Given the description of an element on the screen output the (x, y) to click on. 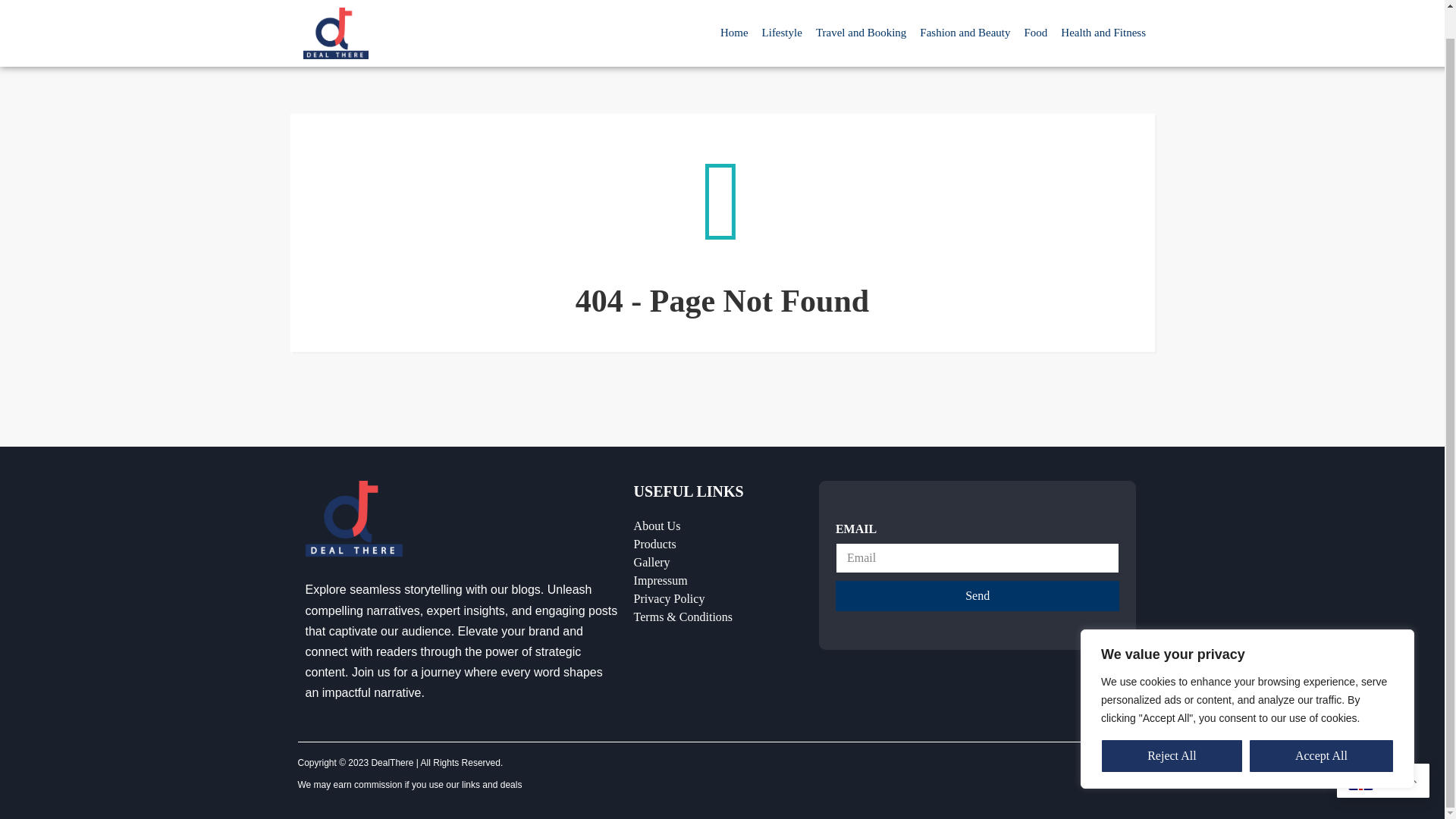
Health and Fitness (1103, 7)
Lifestyle (782, 6)
Home (734, 5)
Accept All (1321, 726)
Reject All (1171, 726)
Fashion and Beauty (964, 6)
Privacy Policy (718, 598)
Gallery (718, 562)
Products (718, 544)
Impressum (718, 580)
Travel and Booking (860, 6)
Food (1035, 7)
About Us (718, 525)
